Given the description of an element on the screen output the (x, y) to click on. 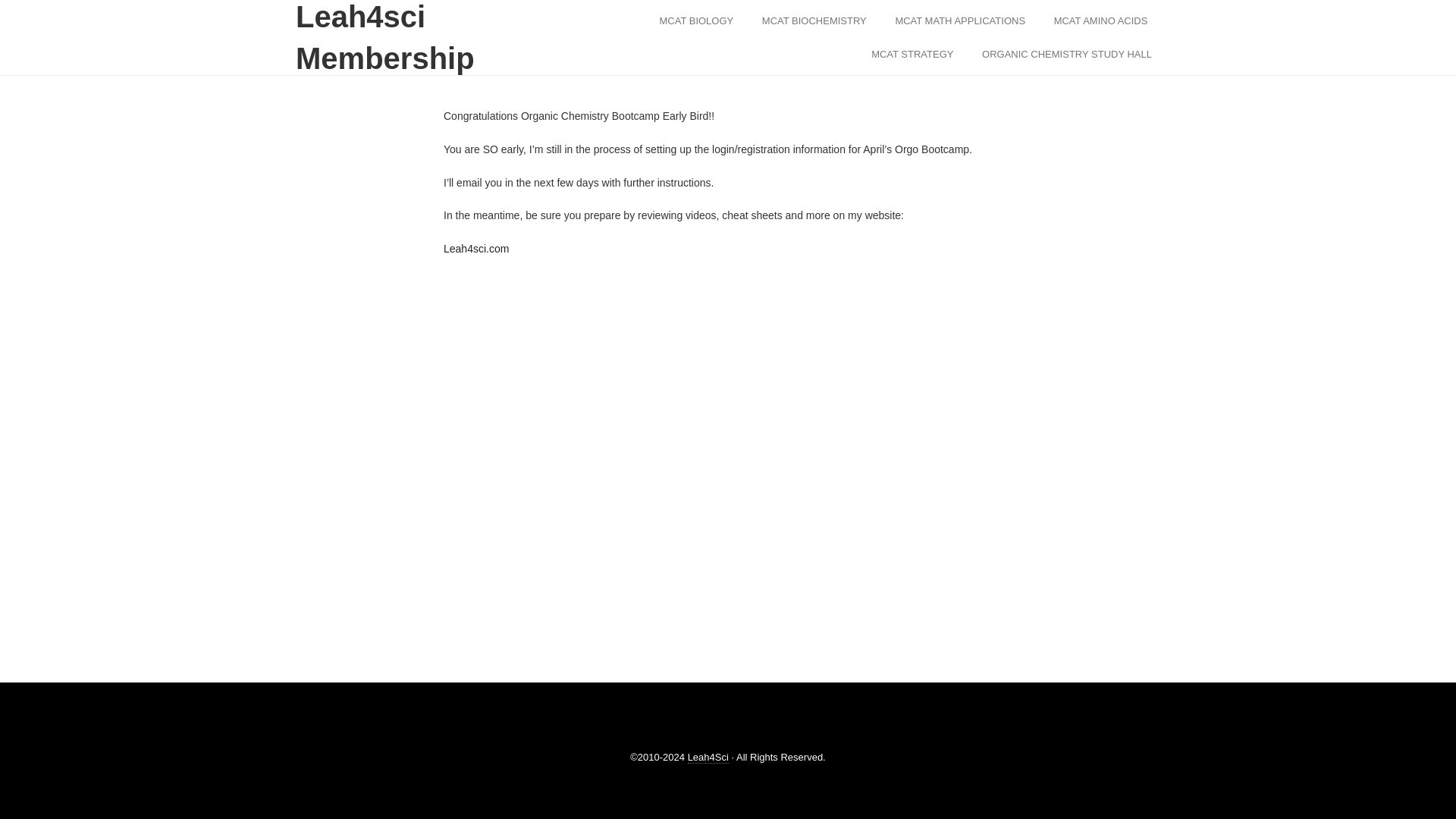
ORGANIC CHEMISTRY STUDY HALL (1067, 54)
MCAT AMINO ACIDS (1100, 20)
Leah4Sci (708, 757)
Leah4sci Membership (413, 45)
MCAT STRATEGY (911, 54)
MCAT BIOCHEMISTRY (814, 20)
MCAT MATH APPLICATIONS (959, 20)
Leah4sci.com (476, 248)
MCAT BIOLOGY (695, 20)
